Given the description of an element on the screen output the (x, y) to click on. 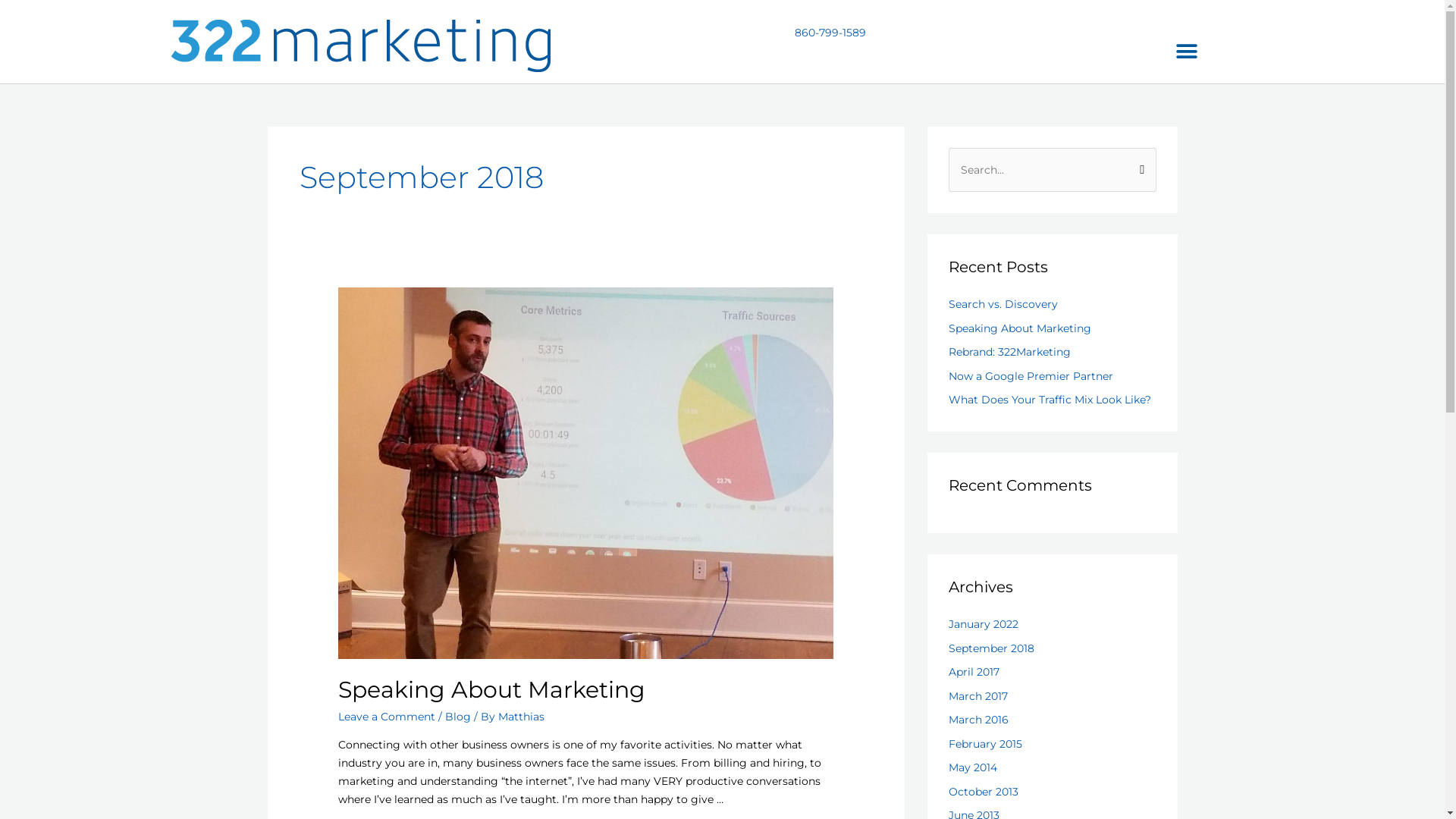
Matthias Element type: text (521, 716)
Search vs. Discovery Element type: text (1002, 303)
860-799-1589 Element type: text (830, 32)
May 2014 Element type: text (971, 767)
Blog Element type: text (457, 716)
January 2022 Element type: text (982, 623)
Search Element type: text (1139, 162)
Now a Google Premier Partner Element type: text (1029, 375)
February 2015 Element type: text (984, 743)
Rebrand: 322Marketing Element type: text (1008, 351)
September 2018 Element type: text (990, 648)
March 2017 Element type: text (977, 695)
April 2017 Element type: text (972, 671)
October 2013 Element type: text (982, 791)
Speaking About Marketing Element type: text (1018, 328)
March 2016 Element type: text (977, 719)
Speaking About Marketing Element type: text (491, 689)
Leave a Comment Element type: text (386, 716)
What Does Your Traffic Mix Look Like? Element type: text (1048, 399)
